Given the description of an element on the screen output the (x, y) to click on. 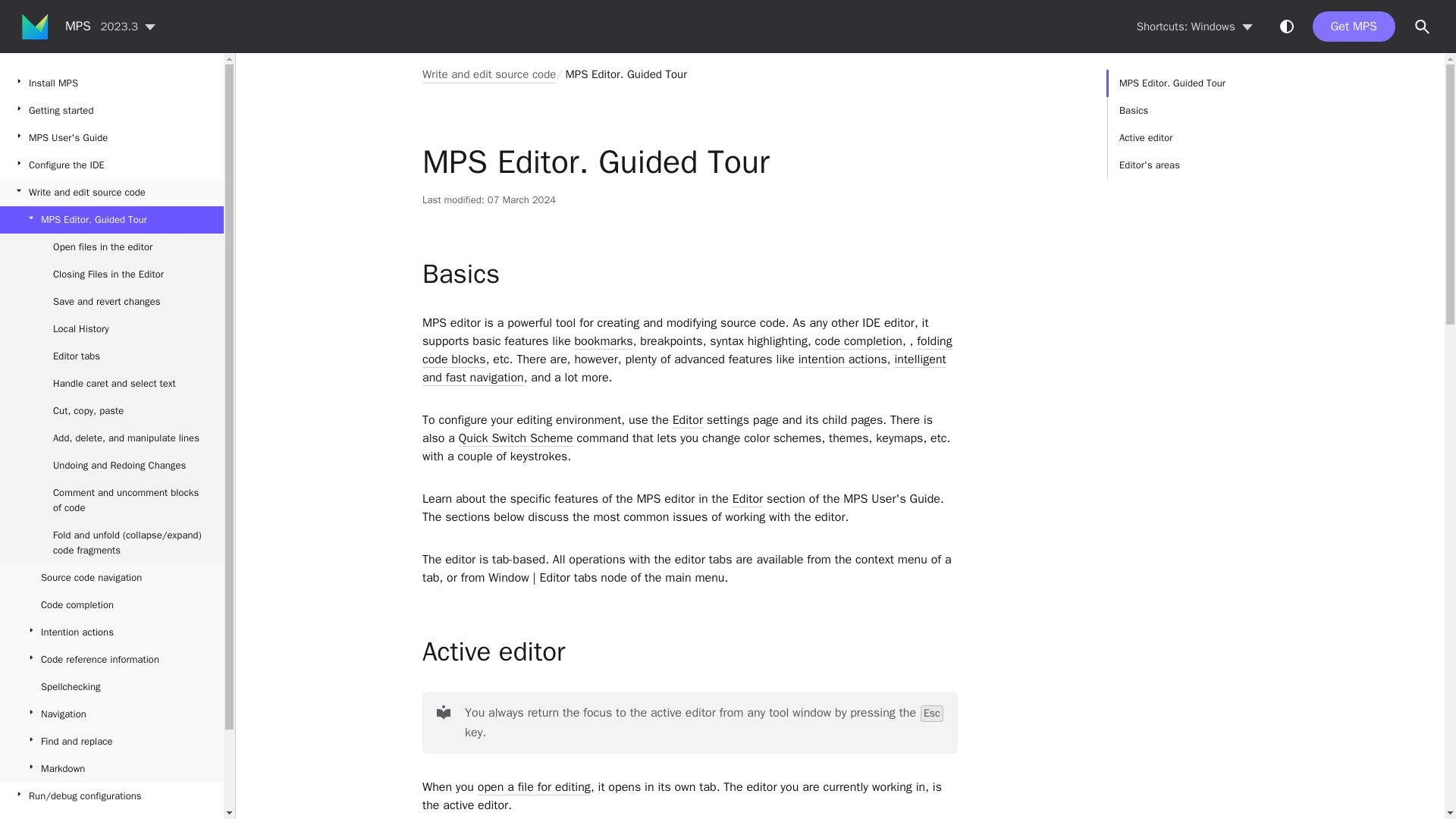
Undoing and Redoing Changes (112, 465)
Install MPS (112, 83)
MPS Editor. Guided Tour (112, 219)
Editor tabs (112, 356)
Intention actions (112, 632)
Write and edit source code (112, 192)
Code reference information (1200, 124)
Local History (112, 659)
code completion (112, 329)
bookmarks (858, 341)
intelligent and fast navigation (602, 341)
Handle caret and select text (684, 368)
Switch theme (112, 383)
Source code navigation (1286, 26)
